Given the description of an element on the screen output the (x, y) to click on. 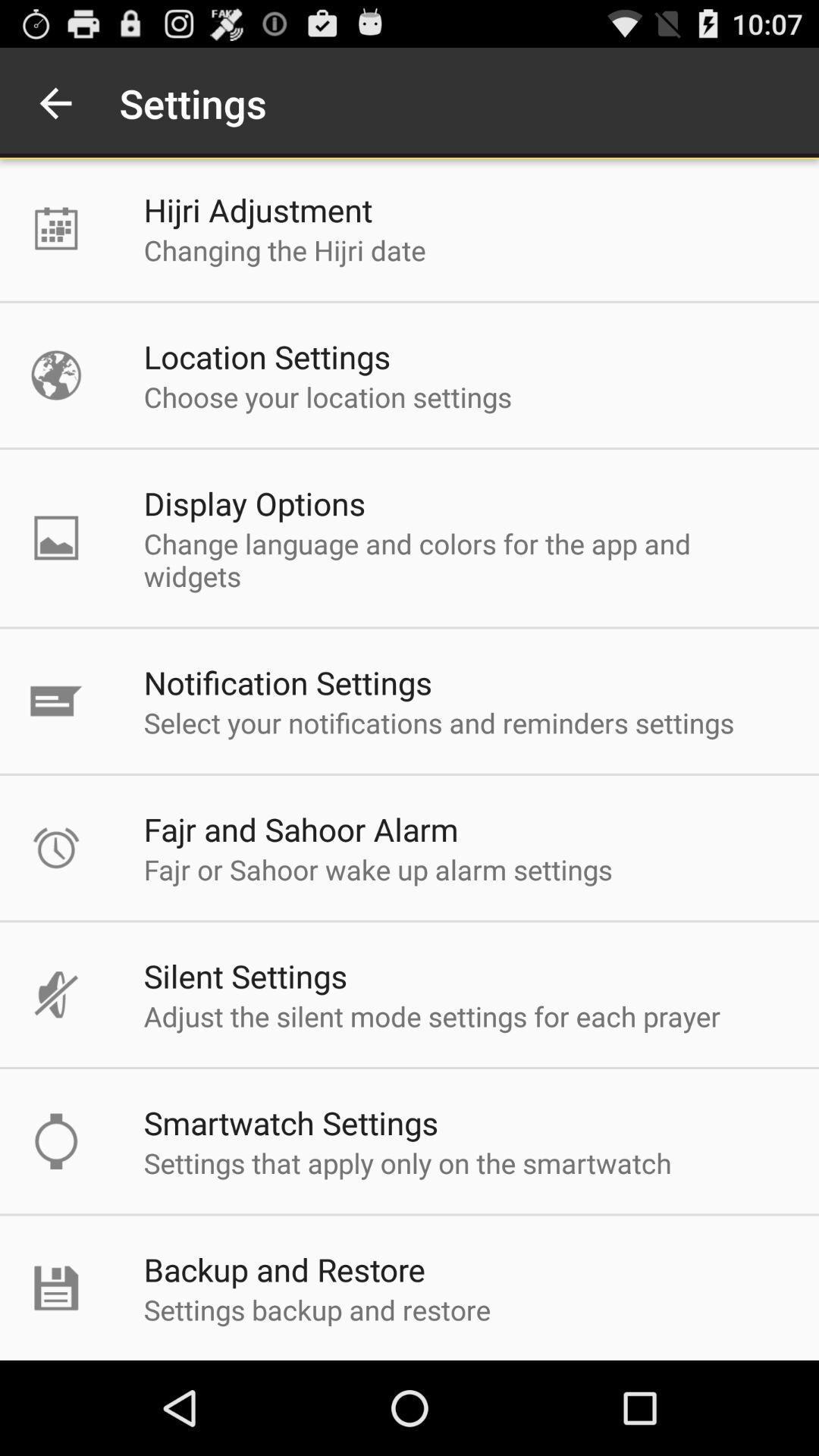
turn on the item above fajr and sahoor item (438, 722)
